Given the description of an element on the screen output the (x, y) to click on. 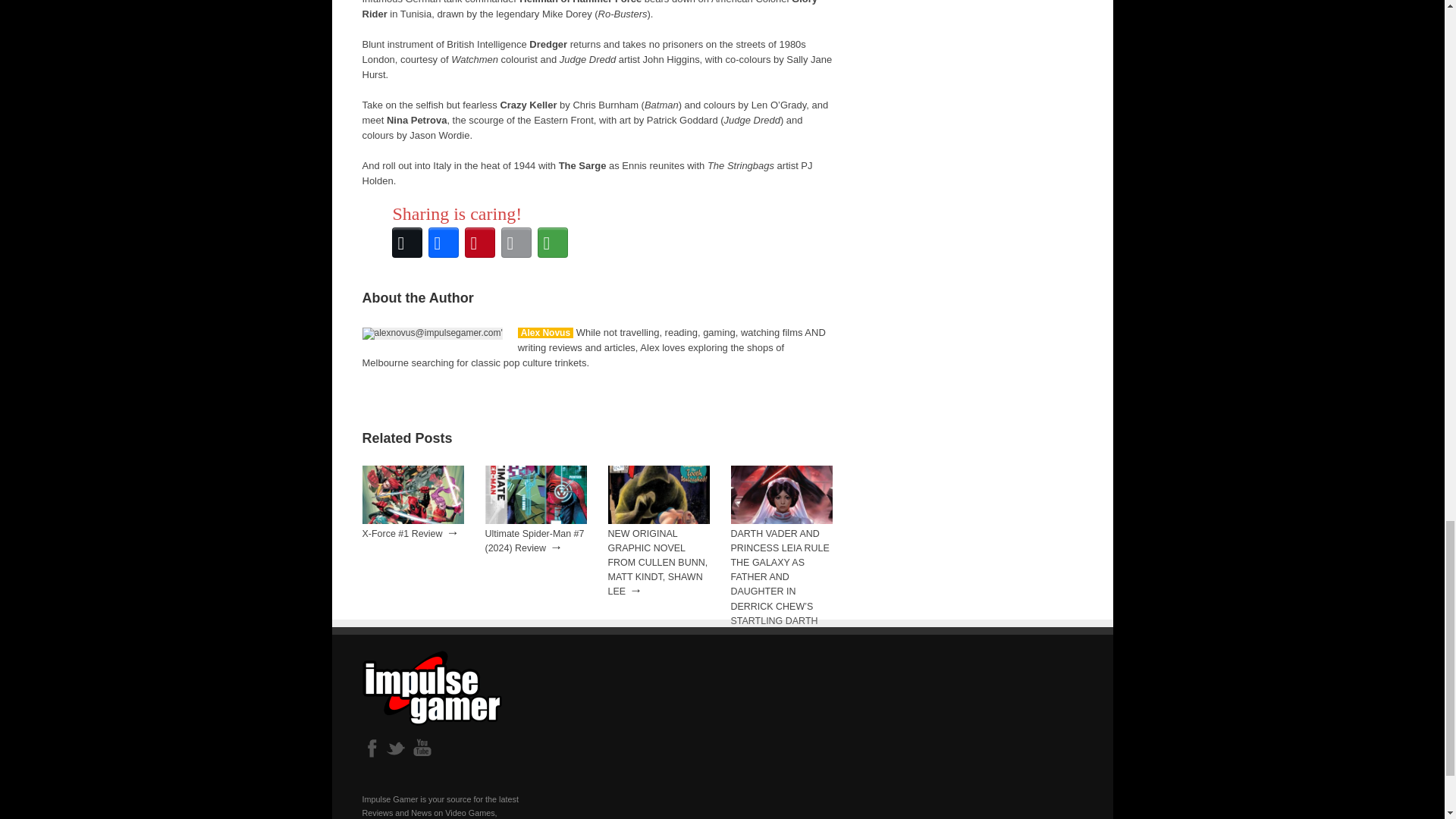
More Options (552, 242)
Posts by Alex Novus (545, 332)
Email This (515, 242)
Facebook (443, 242)
Pinterest (479, 242)
